Given the description of an element on the screen output the (x, y) to click on. 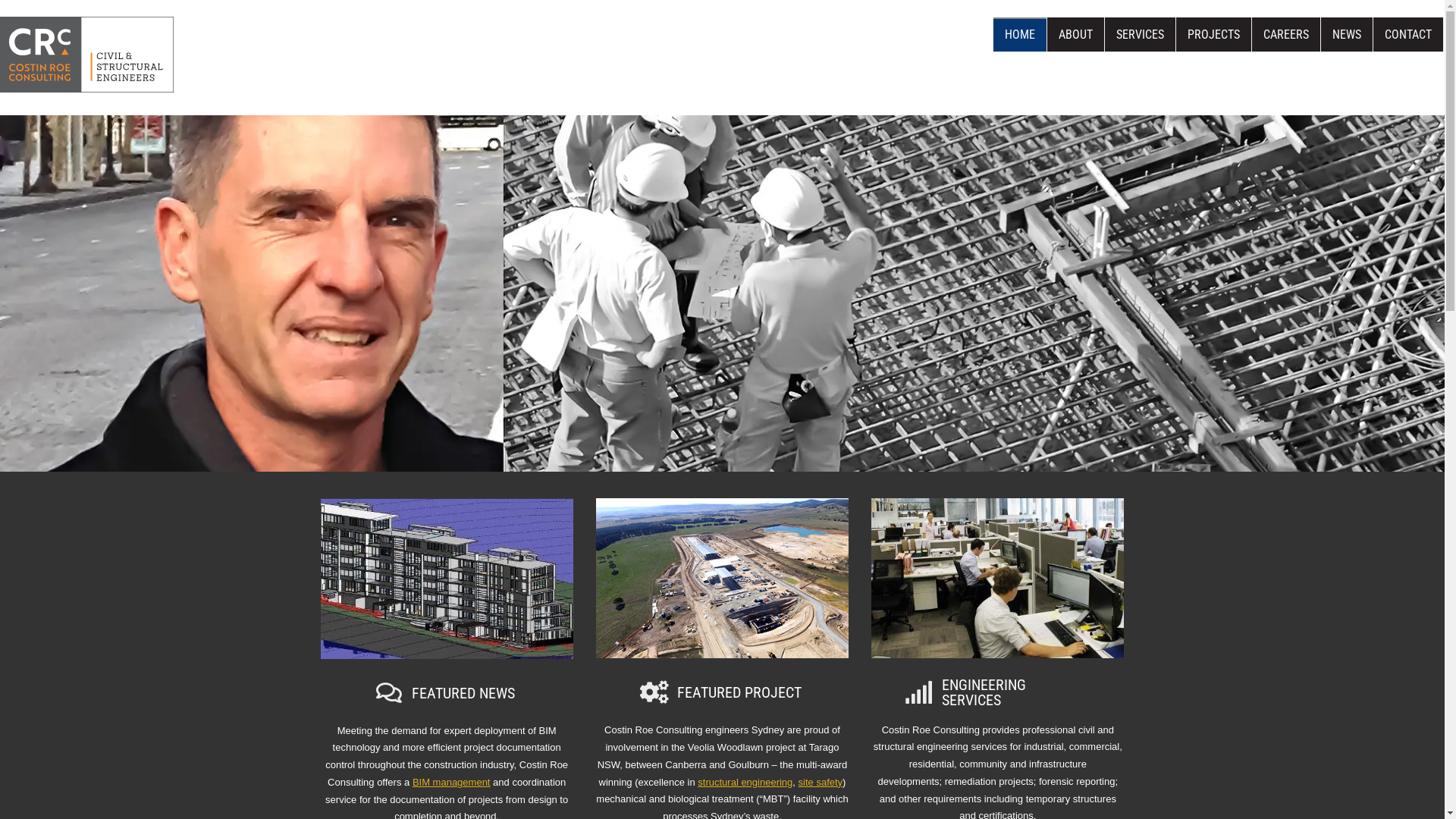
site safety Element type: text (820, 781)
CAREERS Element type: text (1286, 34)
Costin Roe Consulting | Civil & Structural Engineers Element type: hover (86, 61)
quote Element type: hover (646, 214)
Consulting Engineers Sydney offices Element type: hover (997, 578)
structural engineering Element type: text (744, 781)
SERVICES Element type: text (1139, 34)
ABOUT Element type: text (1075, 34)
NEWS Element type: text (1346, 34)
quote Element type: hover (1021, 376)
HOME Element type: text (1019, 34)
BIM management Element type: text (451, 781)
bim-management-service Element type: hover (446, 578)
CONTACT Element type: text (1408, 34)
PROJECTS Element type: text (1213, 34)
